Given the description of an element on the screen output the (x, y) to click on. 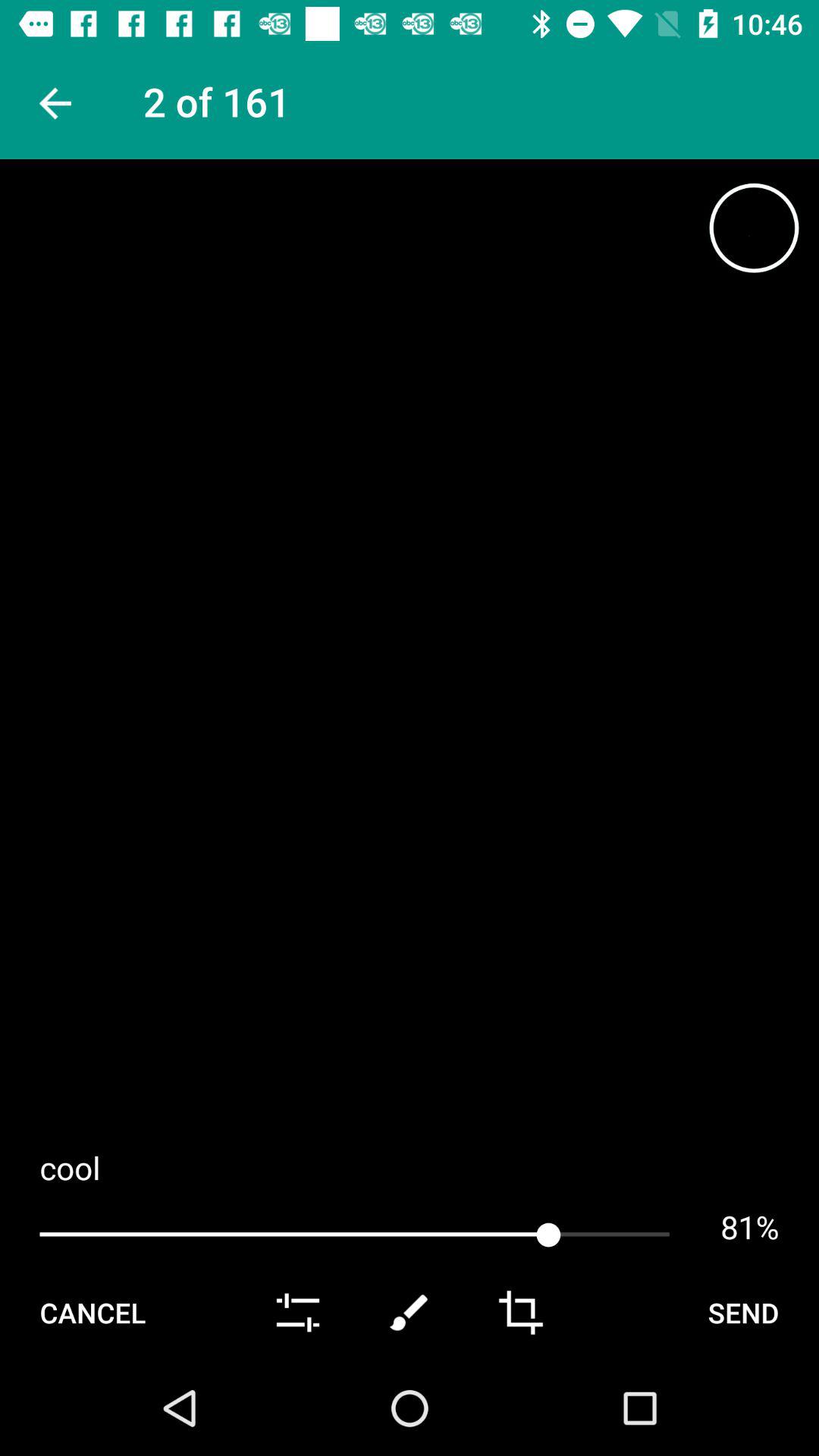
photo re-touch (409, 1312)
